Given the description of an element on the screen output the (x, y) to click on. 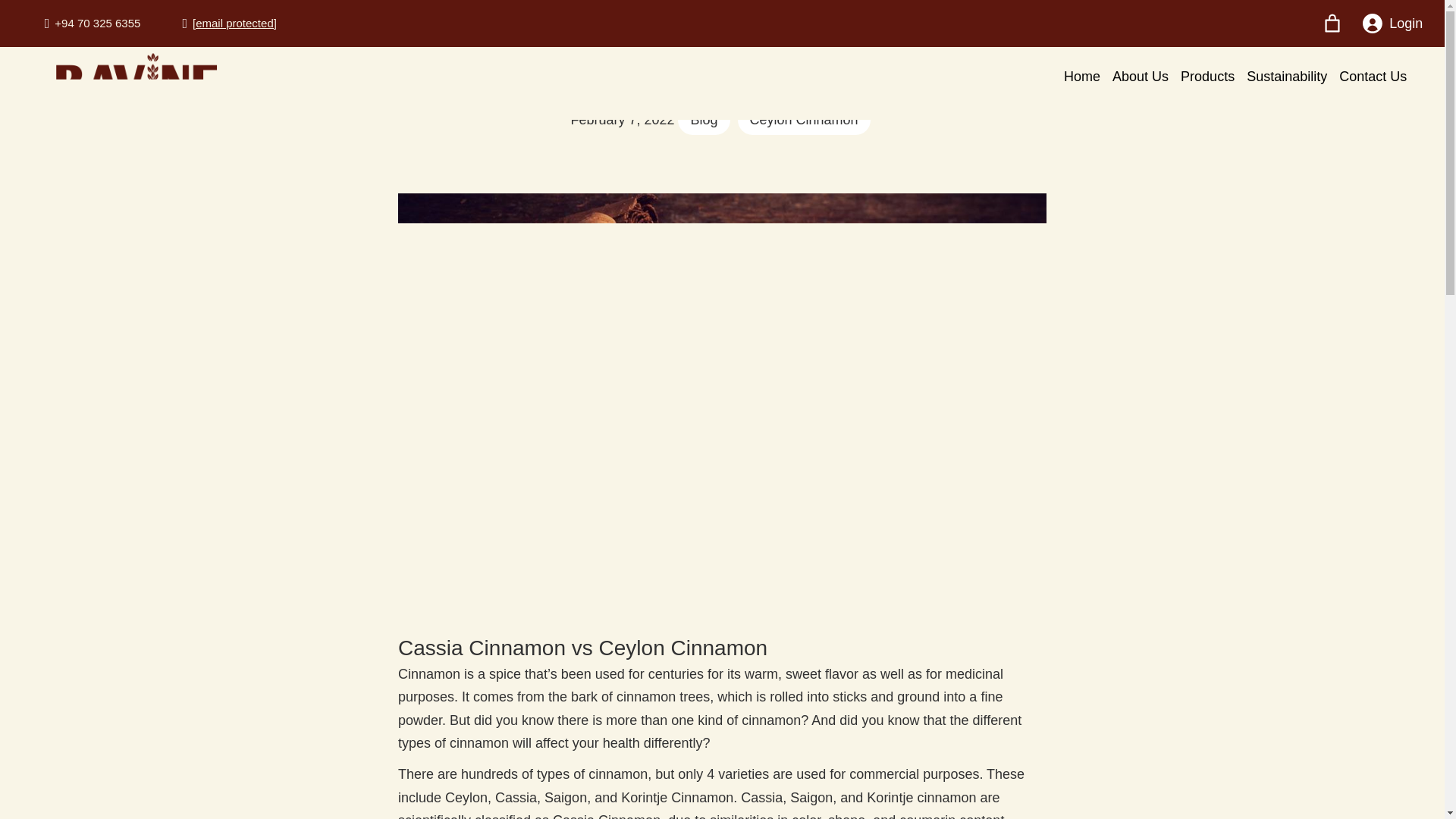
Blog (703, 120)
Sustainability (1286, 76)
Ceylon Cinnamon (804, 120)
Home (1082, 76)
Login (1388, 23)
Products (1207, 76)
Contact Us (1372, 76)
About Us (1140, 76)
